Given the description of an element on the screen output the (x, y) to click on. 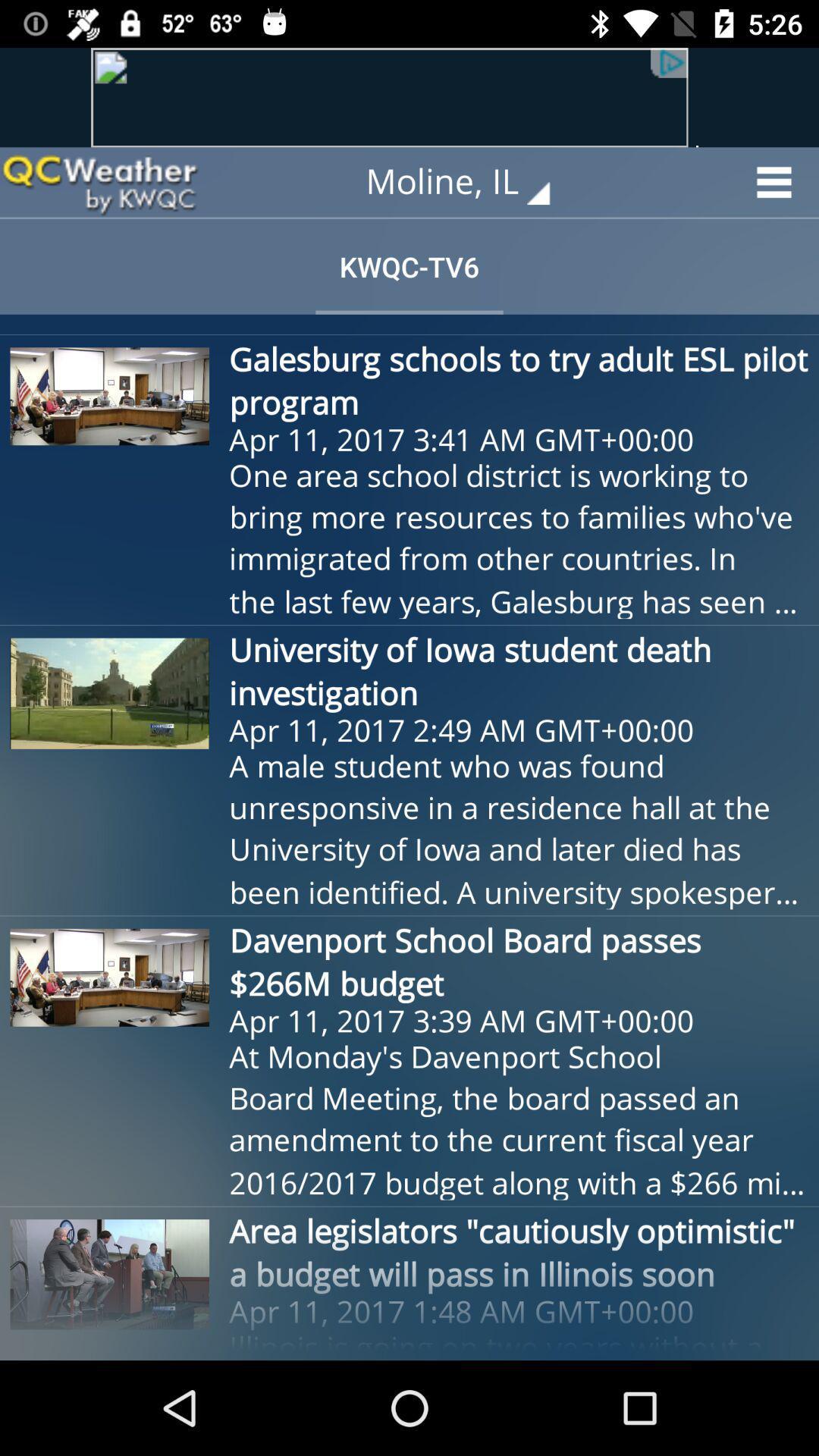
choose the moline, il icon (468, 182)
